Given the description of an element on the screen output the (x, y) to click on. 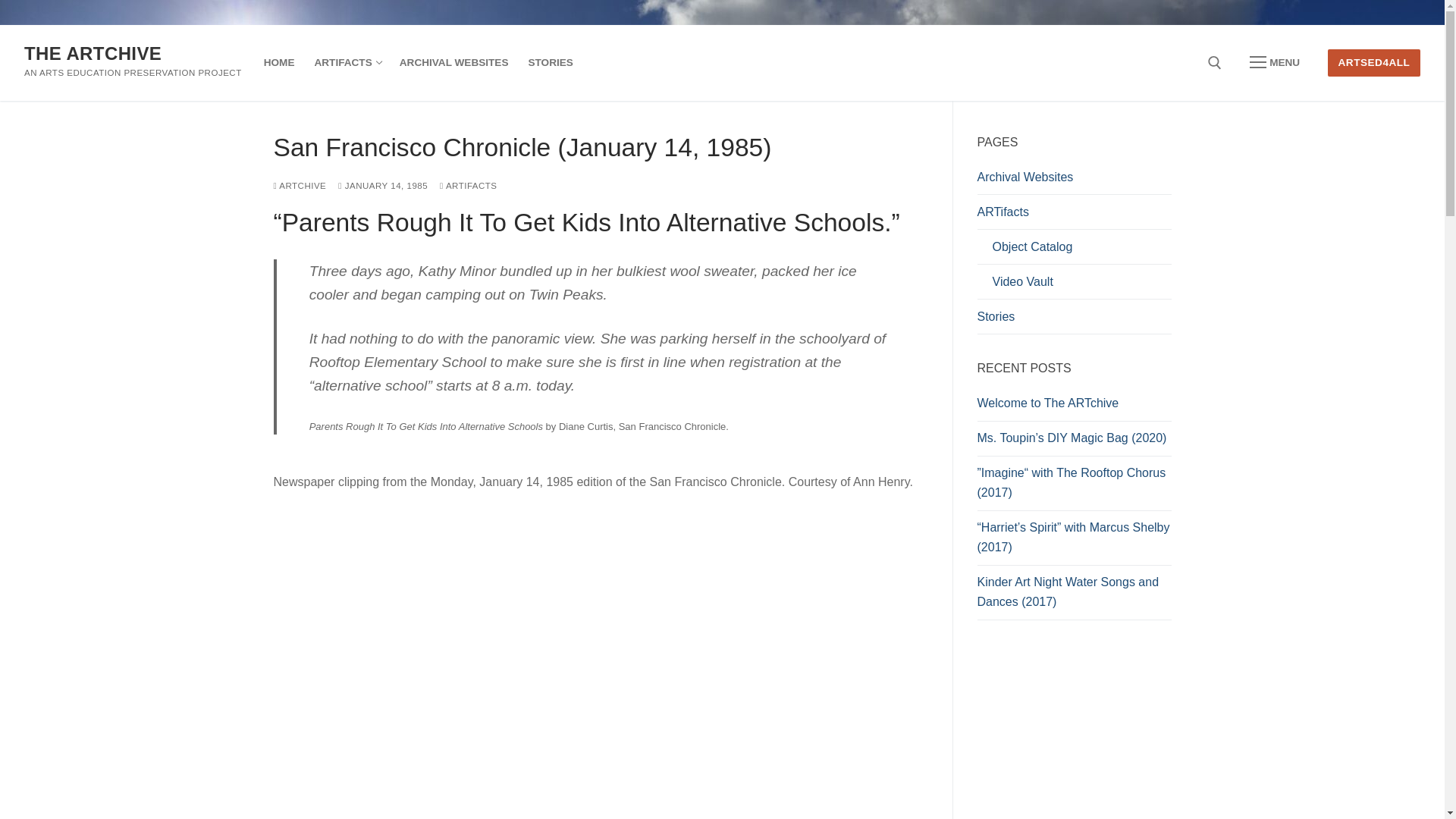
Object Catalog (1073, 250)
ARCHIVAL WEBSITES (454, 62)
ARTifacts (1073, 216)
HOME (278, 62)
Stories (1073, 320)
Video Vault (1073, 285)
JANUARY 14, 1985 (382, 185)
Archival Websites (1073, 180)
THE ARTCHIVE (92, 53)
MENU (1274, 62)
